Given the description of an element on the screen output the (x, y) to click on. 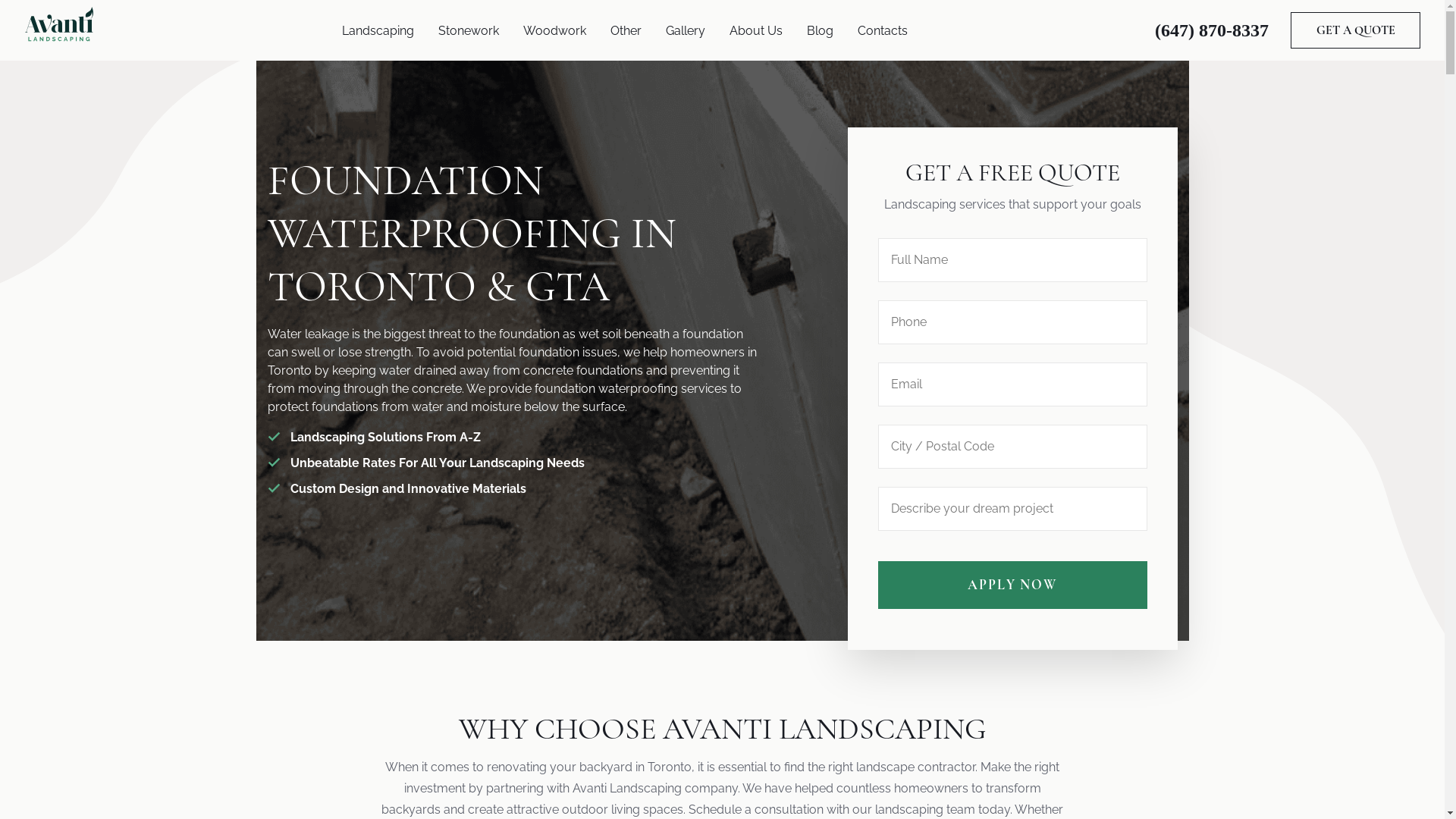
Stonework Element type: text (468, 29)
Contacts Element type: text (881, 29)
About Us Element type: text (755, 29)
Blog Element type: text (819, 29)
Woodwork Element type: text (554, 29)
Landscaping Element type: text (377, 29)
Gallery Element type: text (685, 29)
(647) 870-8337 Element type: text (1211, 30)
Other Element type: text (624, 29)
GET A QUOTE Element type: text (1355, 30)
APPLY NOW Element type: text (1012, 584)
